Given the description of an element on the screen output the (x, y) to click on. 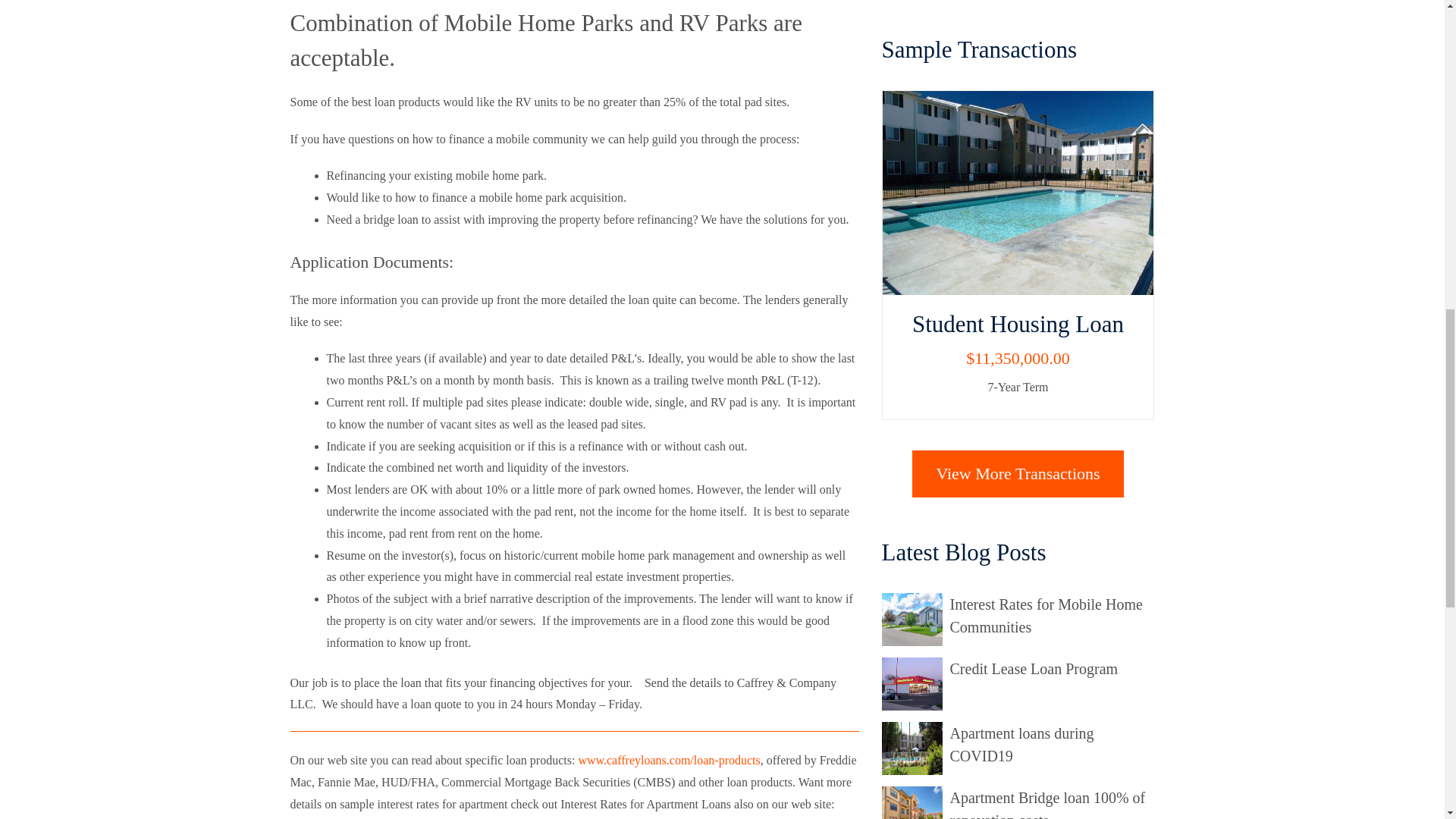
 Latest Blog Posts (914, 747)
Apartment loans during COVID19 (1021, 744)
Interest Rates for Mobile Home Communities (1045, 615)
Interest Rates for Mobile Home Communities (1045, 615)
 Latest Blog Posts (914, 619)
Apartment loans during COVID19 (1021, 744)
View More Transactions (1017, 473)
Credit Lease Loan Program (1033, 668)
Credit Lease Loan Program (1033, 668)
 Latest Blog Posts (914, 802)
 Latest Blog Posts (914, 683)
